Given the description of an element on the screen output the (x, y) to click on. 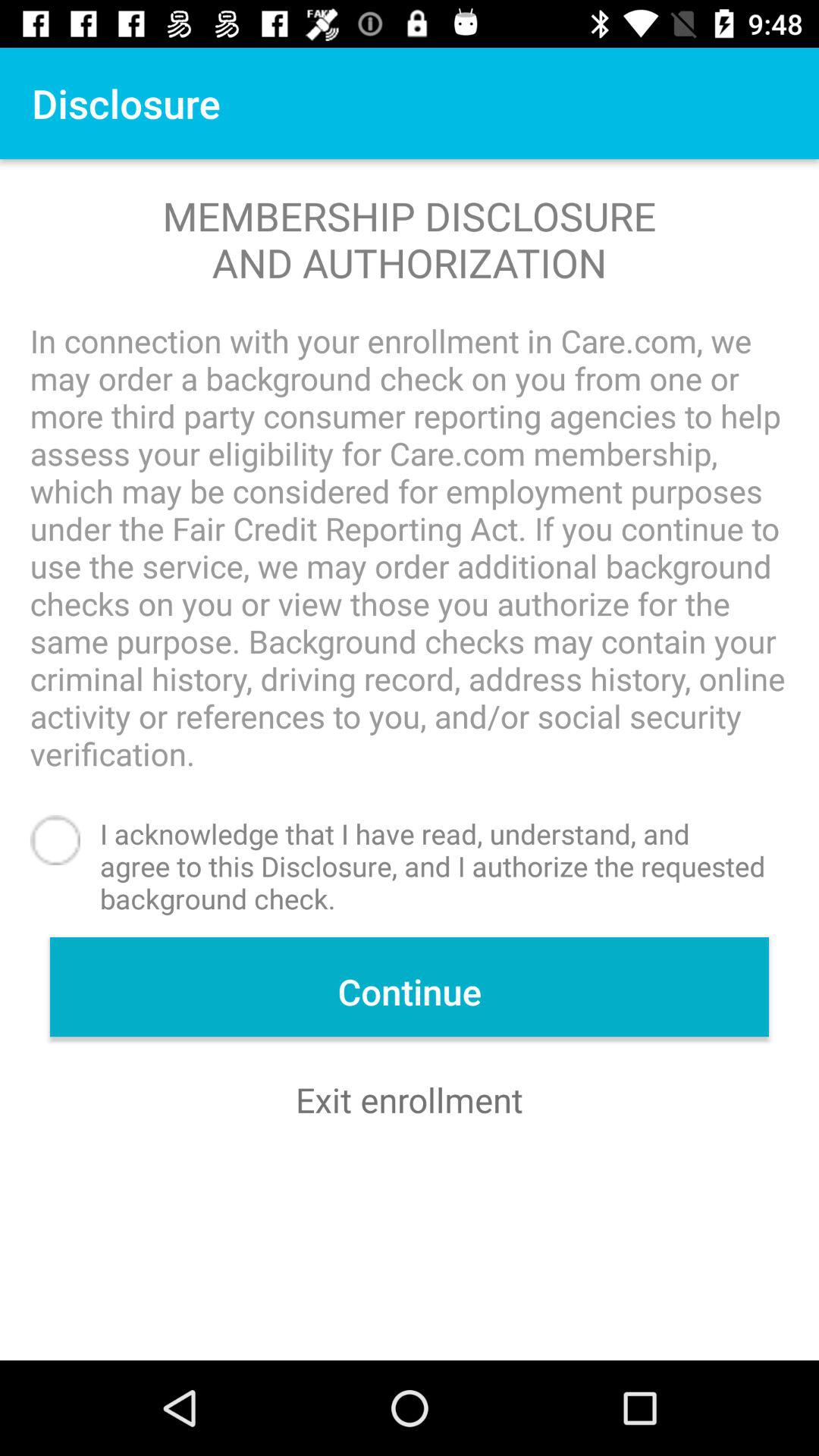
turn off item above exit enrollment (409, 986)
